Given the description of an element on the screen output the (x, y) to click on. 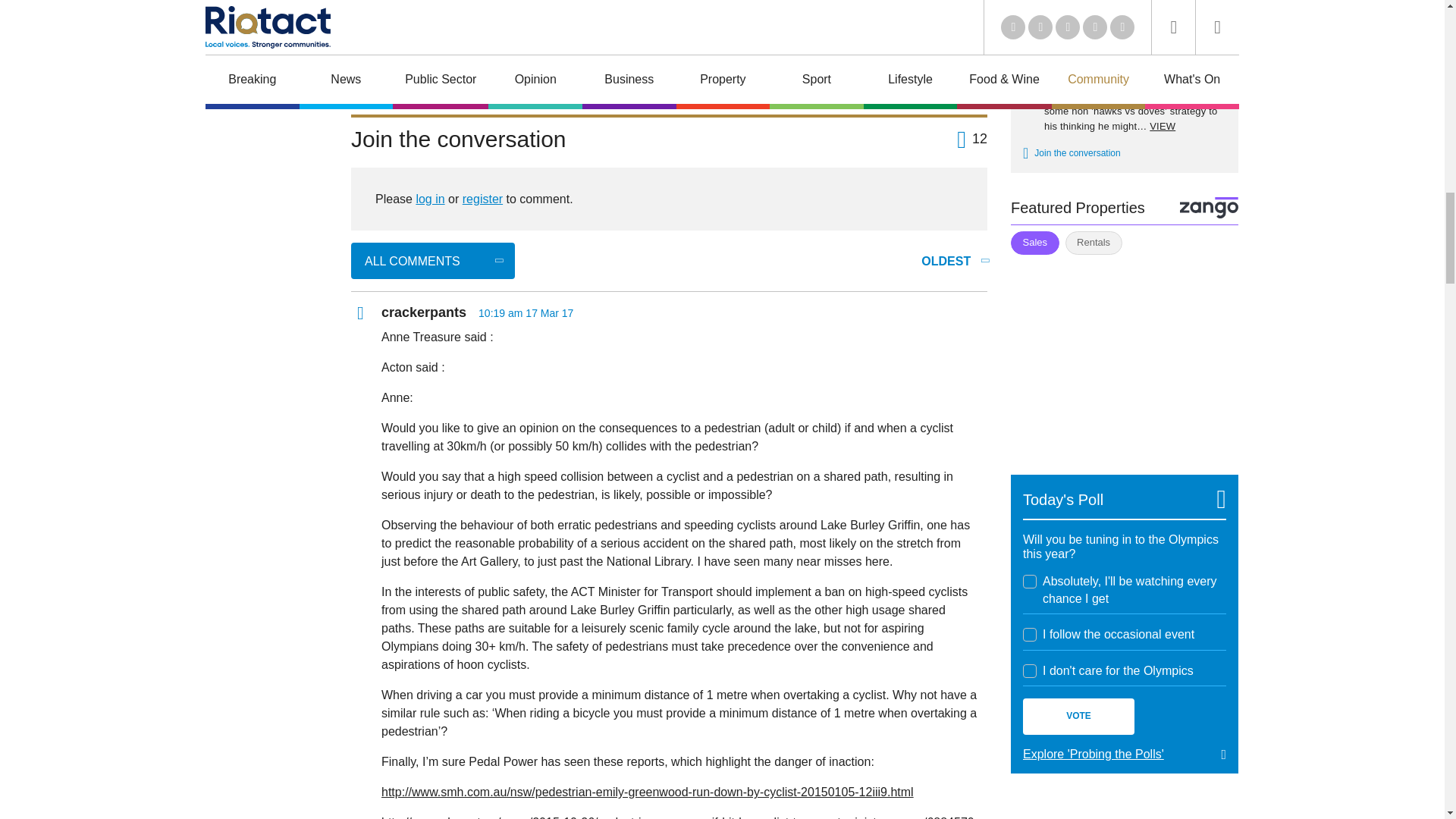
   Vote    (1078, 716)
2043 (1029, 581)
2044 (1029, 634)
Zango Sales (1124, 355)
Zango (1209, 207)
2045 (1029, 671)
